Given the description of an element on the screen output the (x, y) to click on. 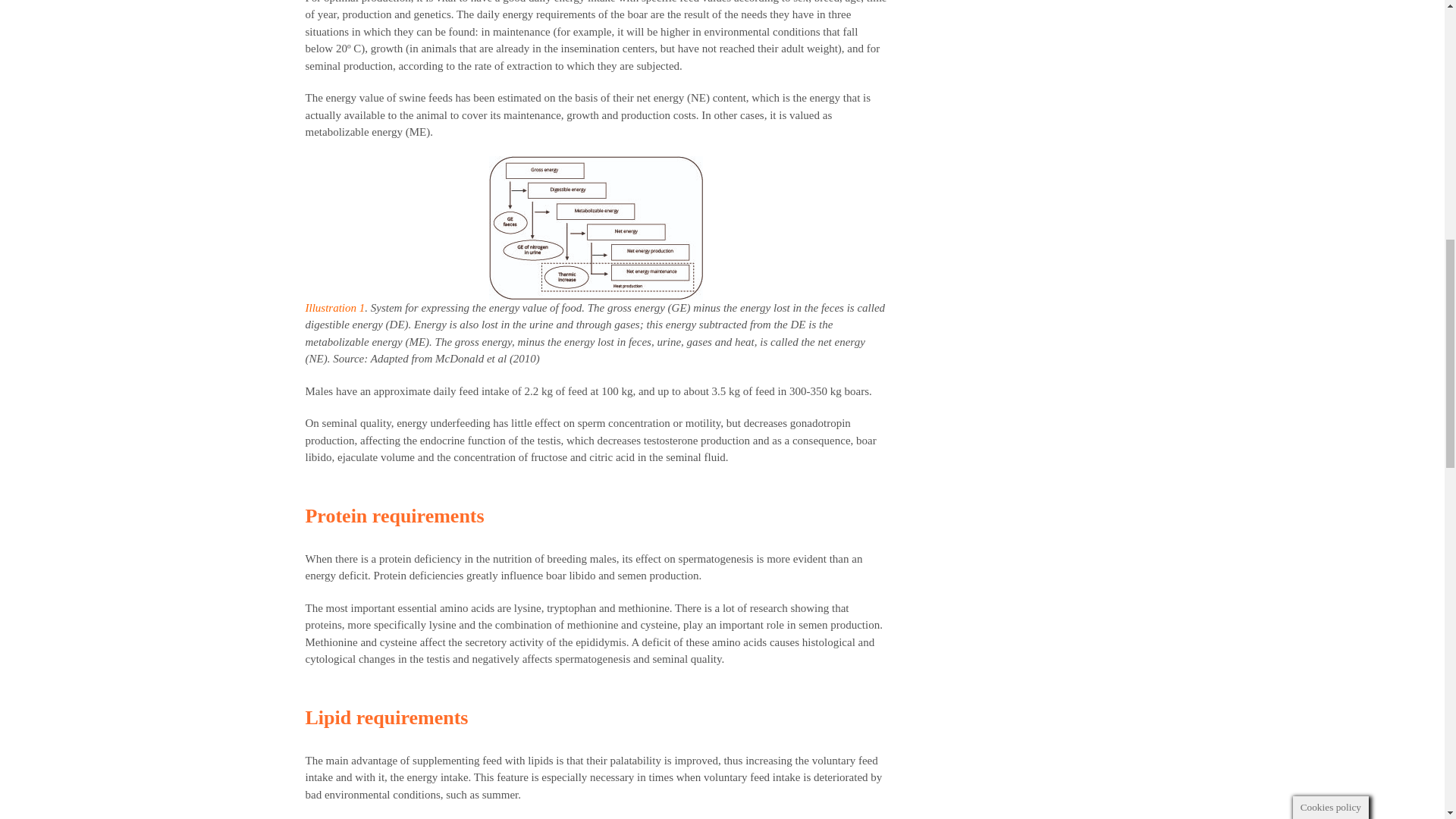
Energy-value-food (596, 227)
